Given the description of an element on the screen output the (x, y) to click on. 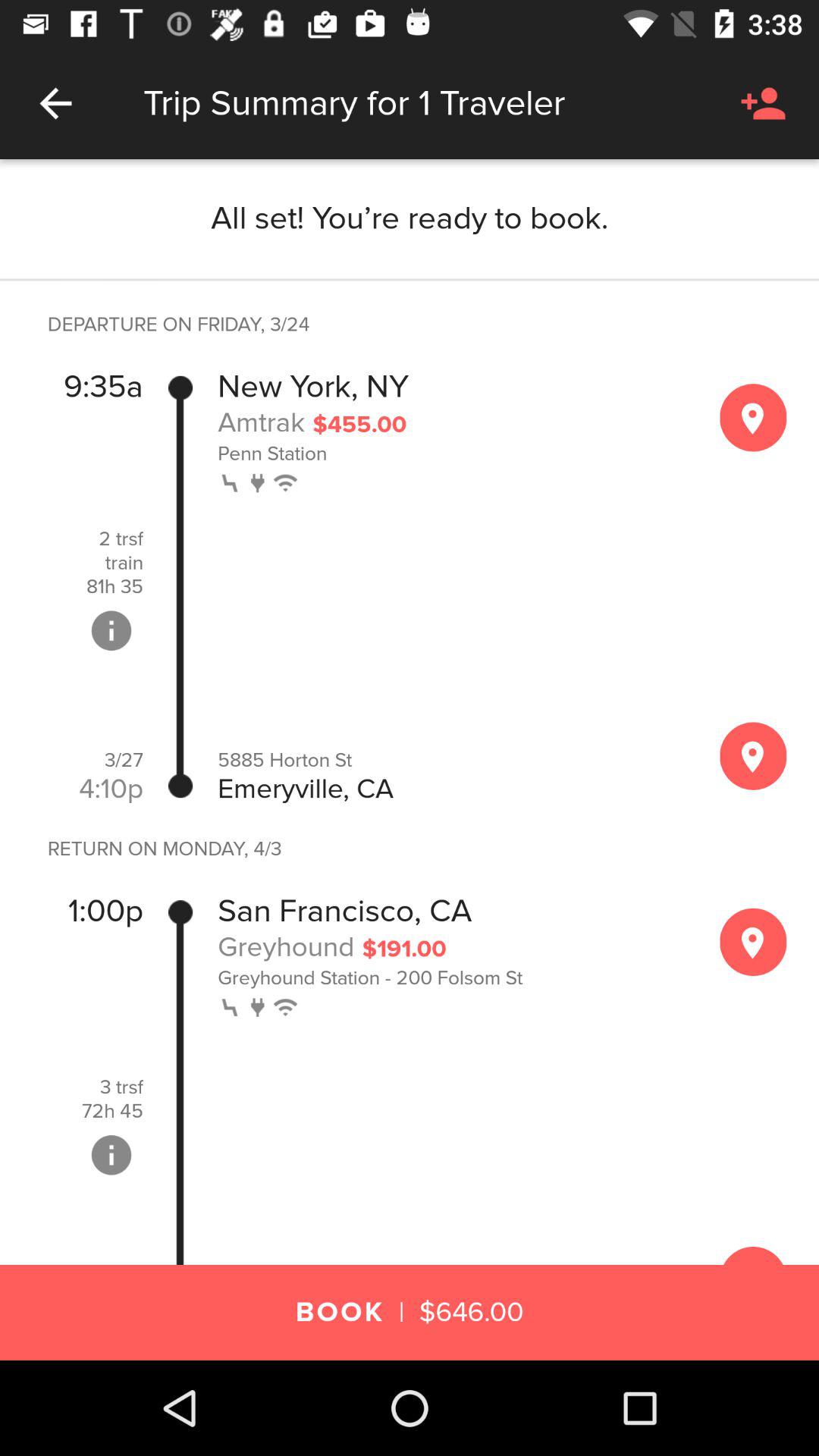
show destination location (753, 755)
